Given the description of an element on the screen output the (x, y) to click on. 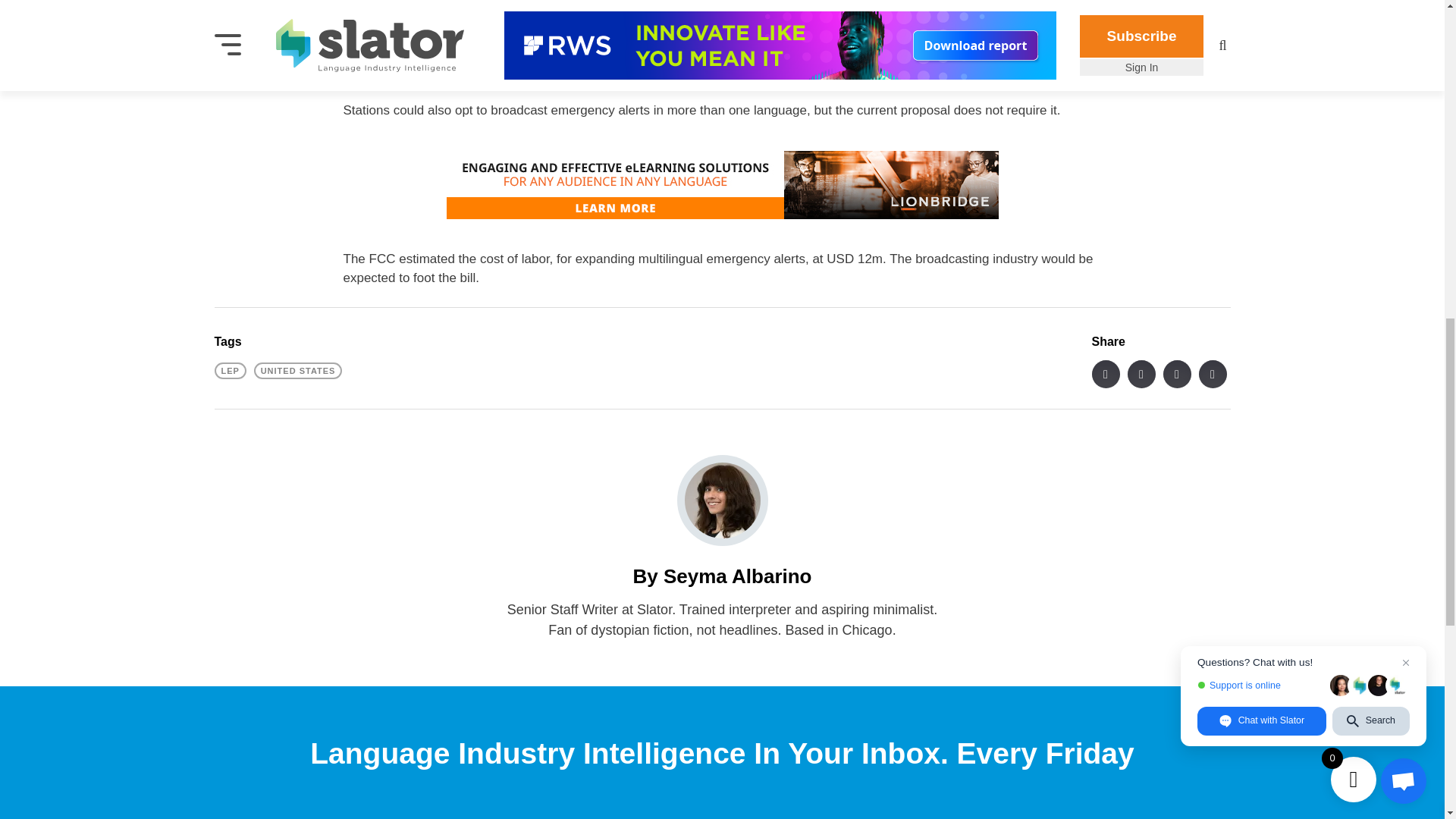
011097abd9 (548, 815)
28e0ad4ca5 (450, 815)
